Given the description of an element on the screen output the (x, y) to click on. 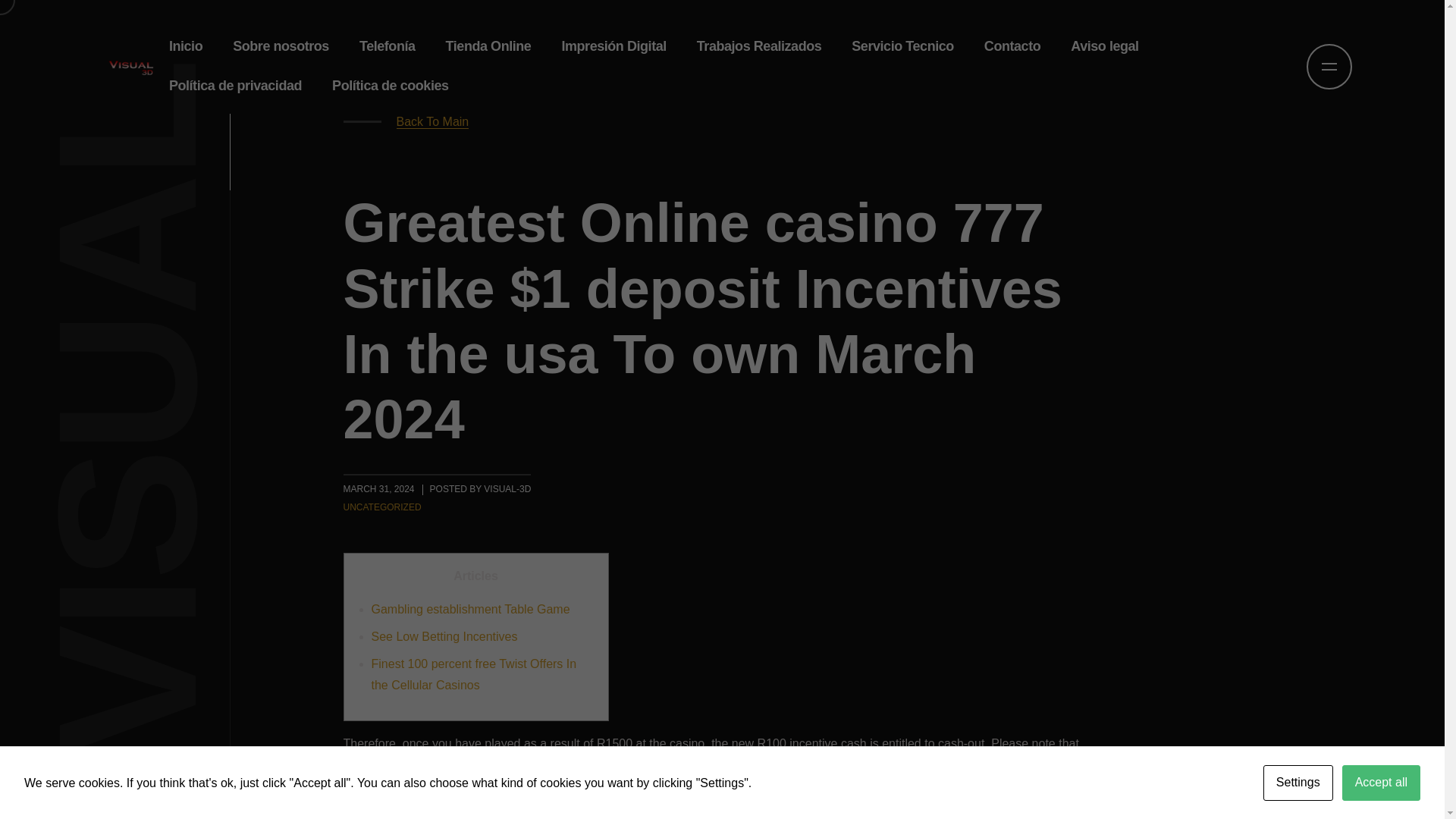
Servicio Tecnico (902, 46)
Inicio (185, 46)
Aviso legal (1104, 46)
Trabajos Realizados (759, 46)
Sobre nosotros (279, 46)
Tienda Online (488, 46)
Contacto (1012, 46)
